Given the description of an element on the screen output the (x, y) to click on. 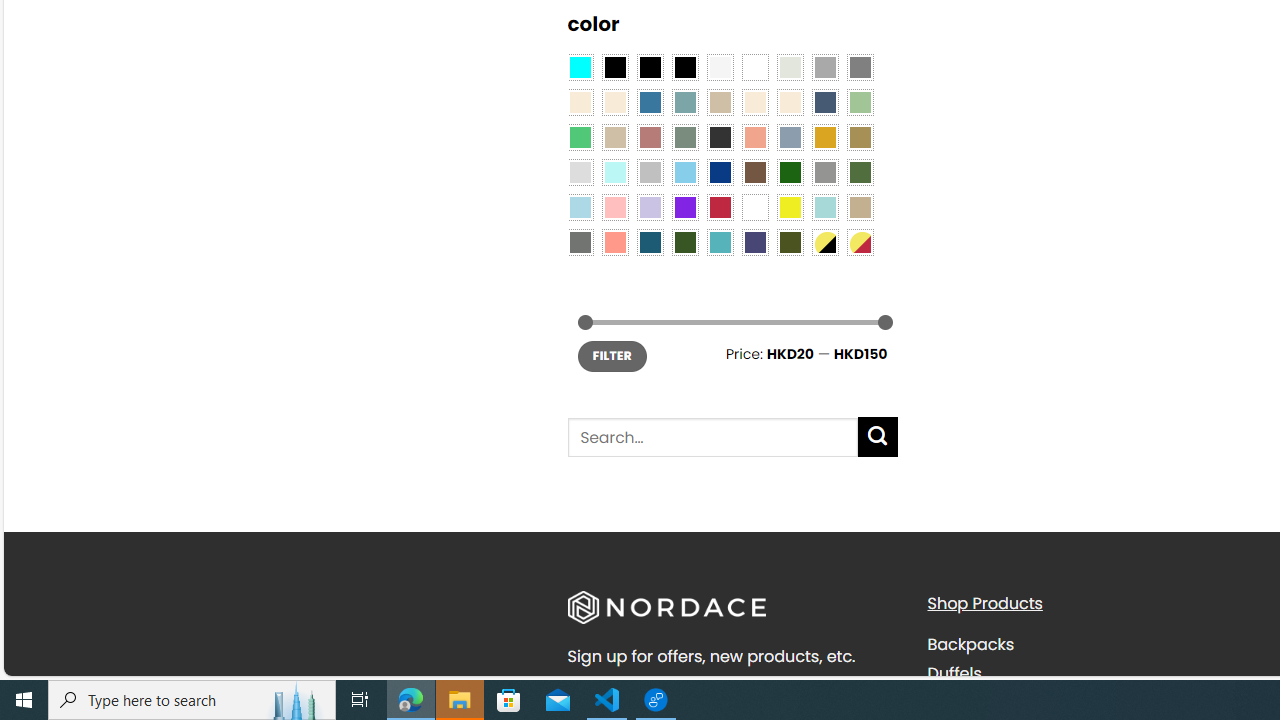
Gray (824, 172)
